Given the description of an element on the screen output the (x, y) to click on. 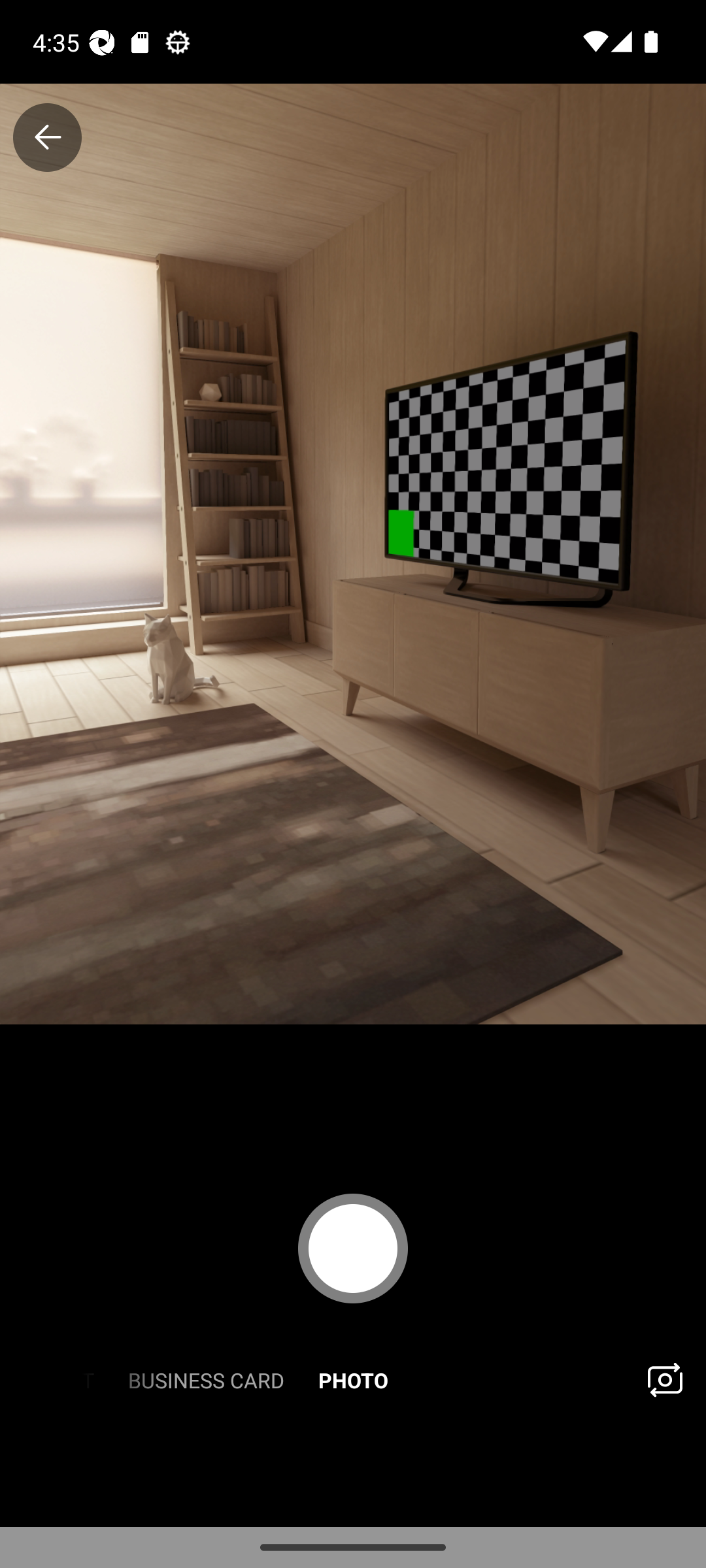
Close (47, 137)
Capture (352, 1248)
Flip Camera (664, 1378)
BUSINESS CARD (205, 1379)
PHOTO (352, 1379)
